Given the description of an element on the screen output the (x, y) to click on. 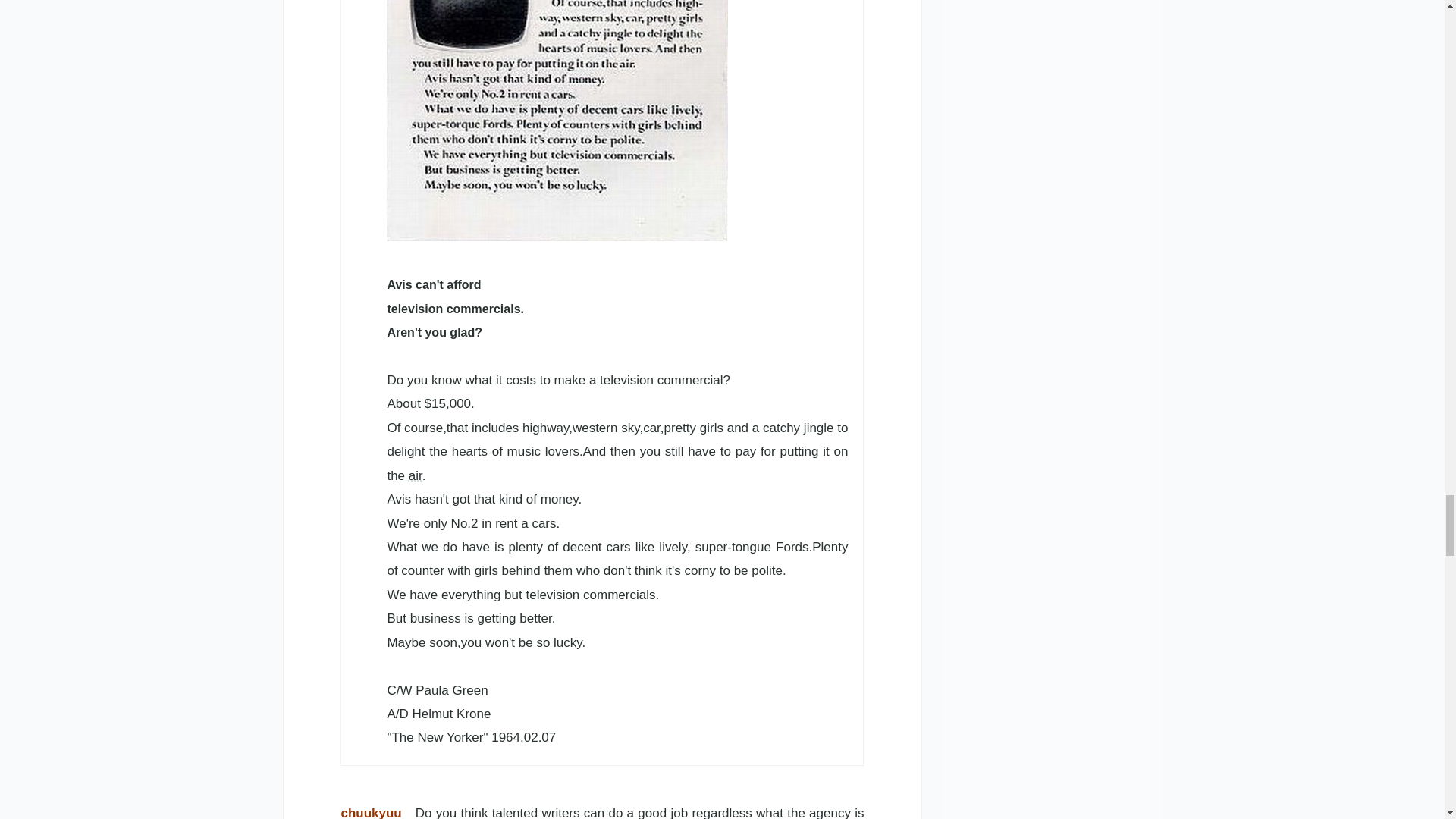
air (415, 475)
f:id:chuukyuu:20090330031038j:image (557, 120)
